Given the description of an element on the screen output the (x, y) to click on. 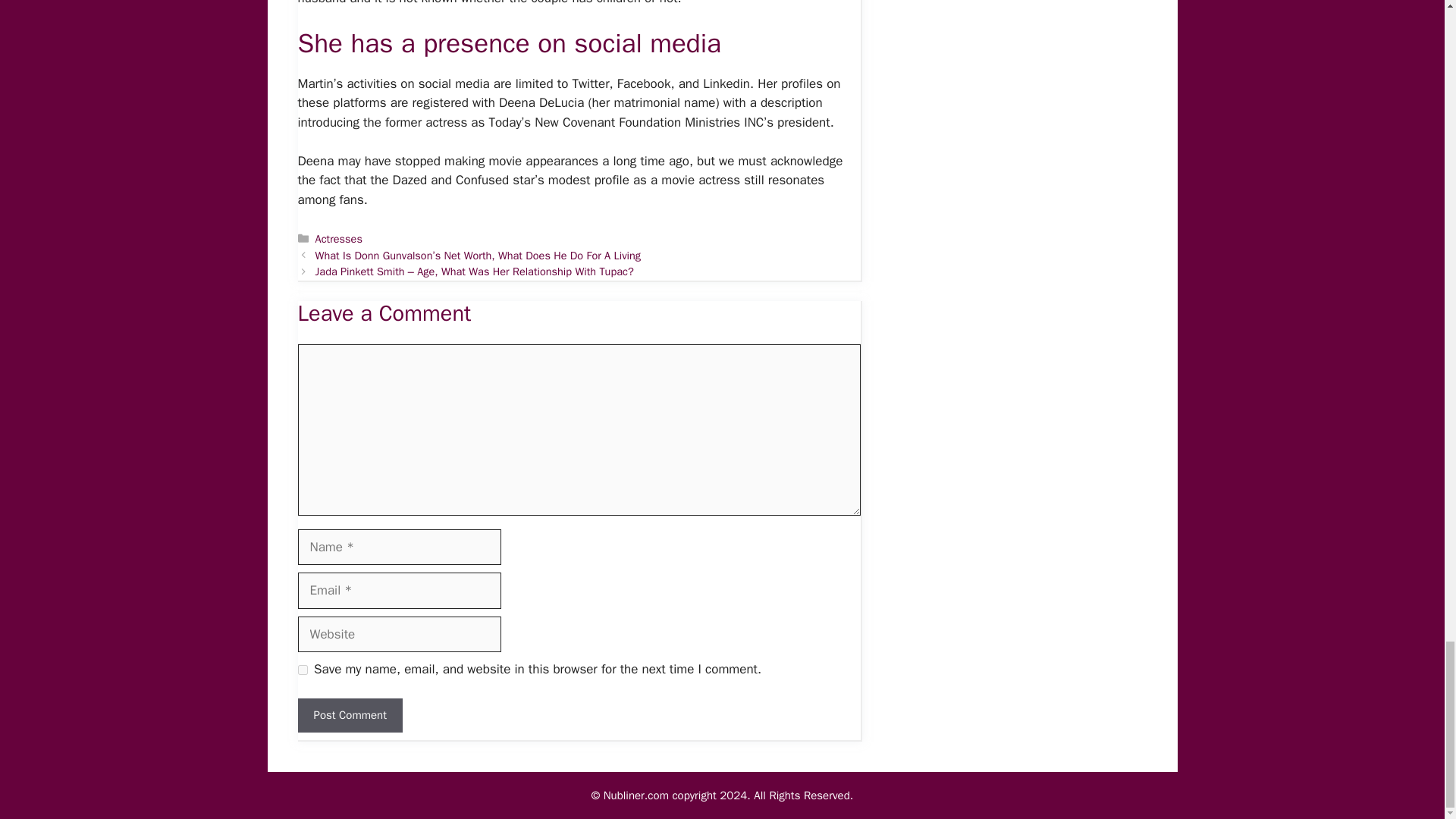
Next (474, 271)
Post Comment (349, 715)
Actresses (338, 238)
Post Comment (349, 715)
Previous (477, 255)
yes (302, 669)
